Given the description of an element on the screen output the (x, y) to click on. 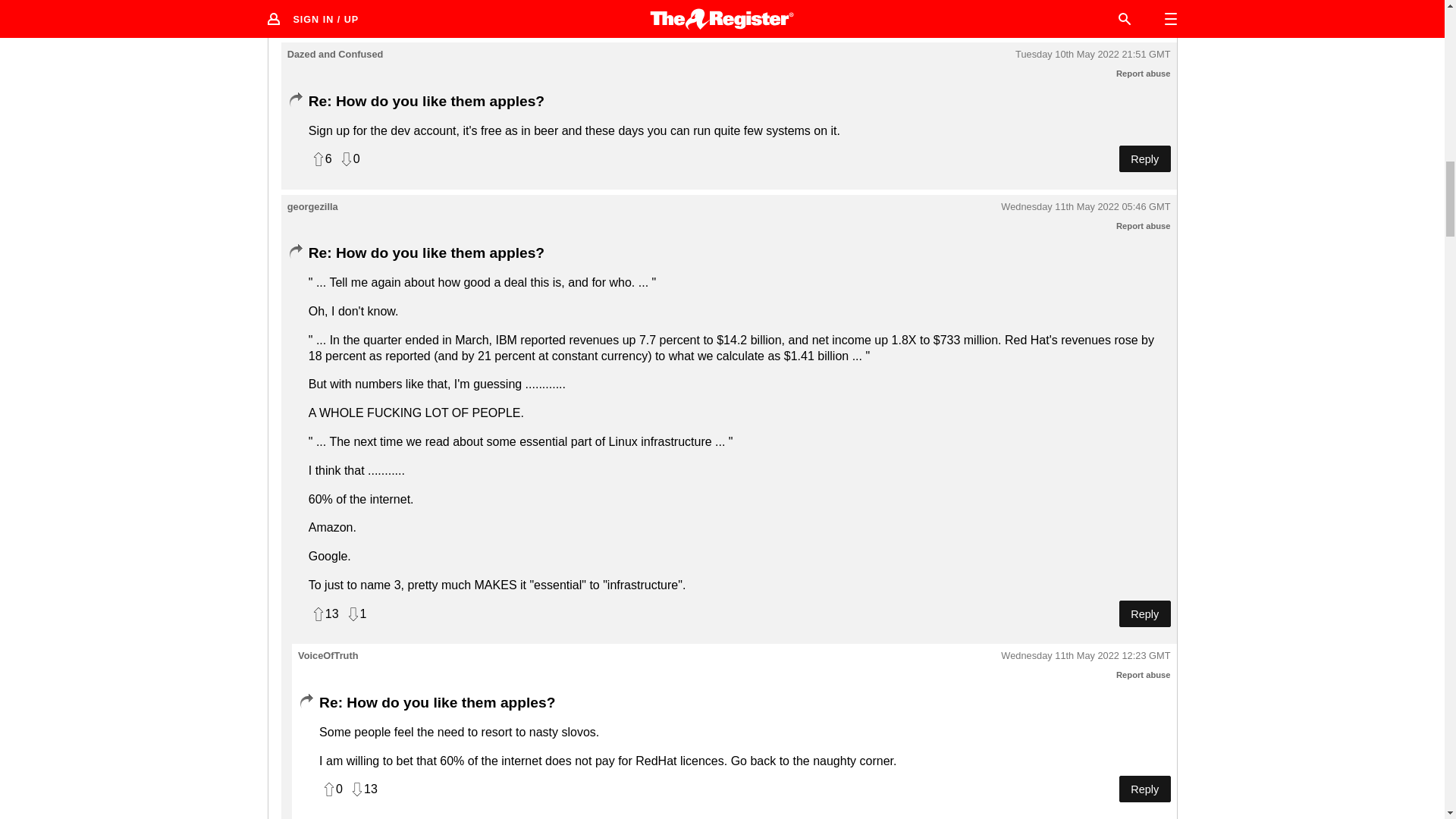
Report abuse (1143, 72)
Report abuse (1143, 225)
Report abuse (1143, 674)
